Given the description of an element on the screen output the (x, y) to click on. 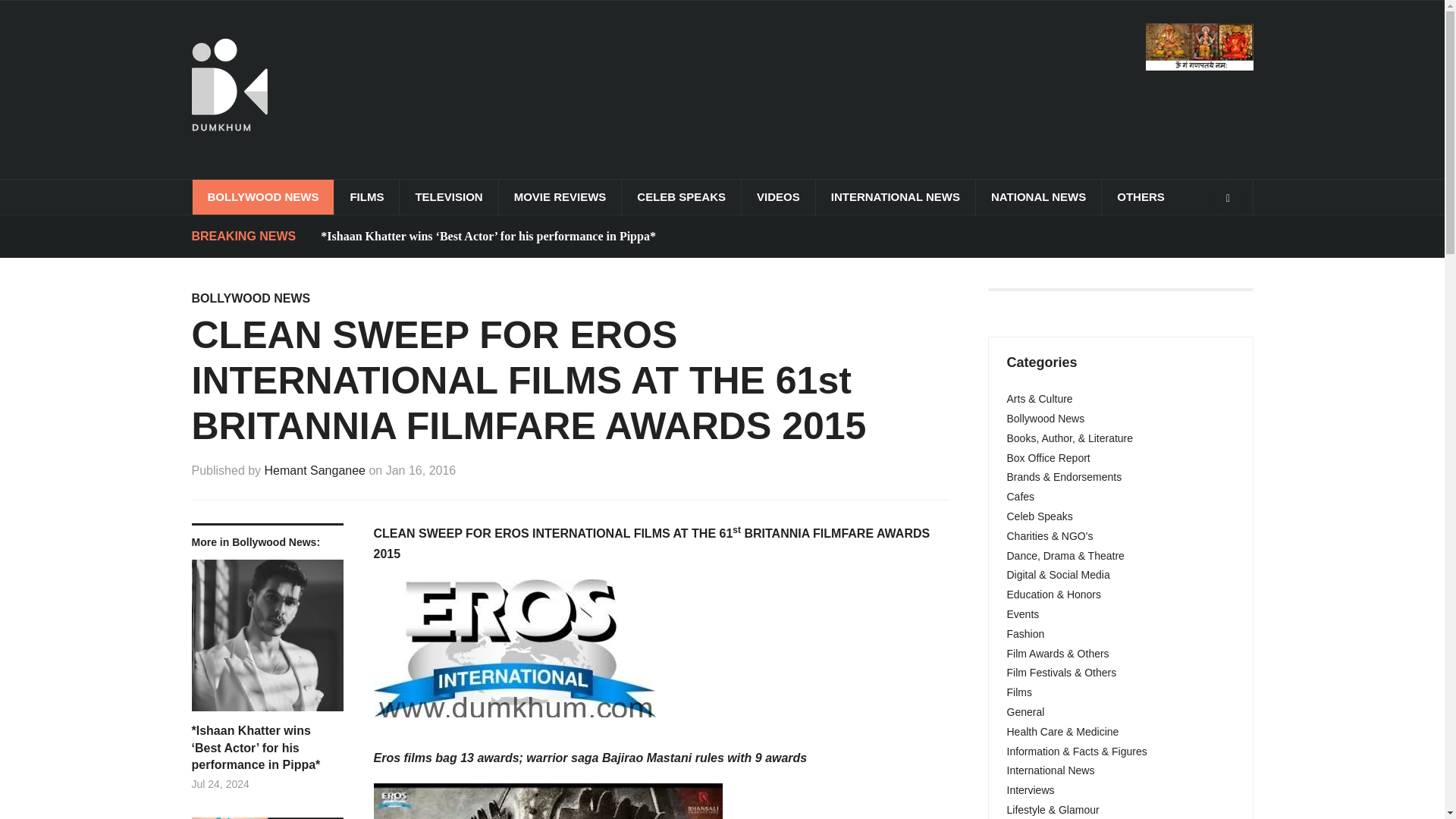
Search (1227, 198)
Posts by Hemant Sanganee (314, 470)
